Given the description of an element on the screen output the (x, y) to click on. 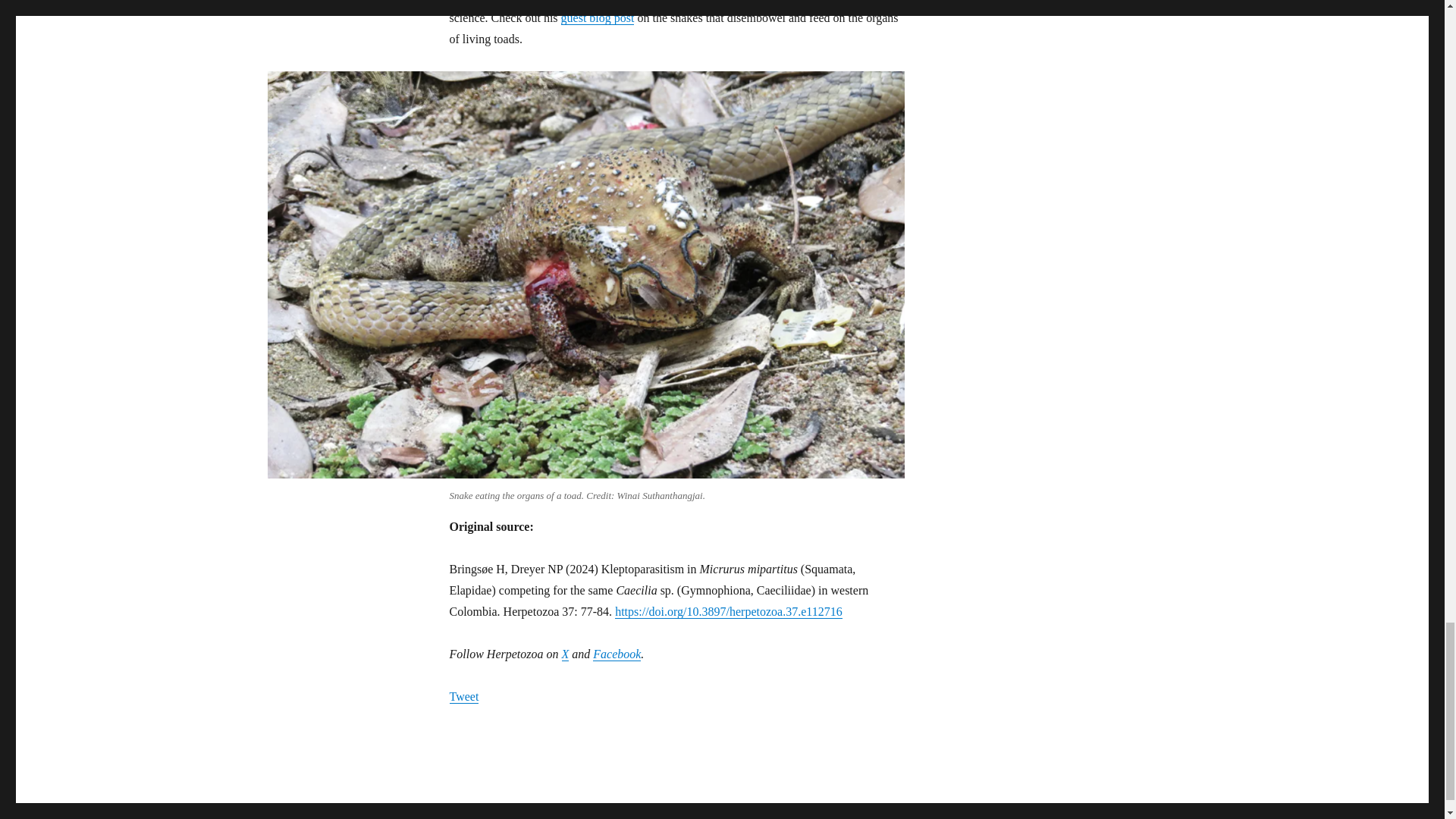
guest blog post (597, 17)
guest blog post (597, 17)
X (564, 653)
Tweet (463, 696)
Facebook (616, 653)
